Given the description of an element on the screen output the (x, y) to click on. 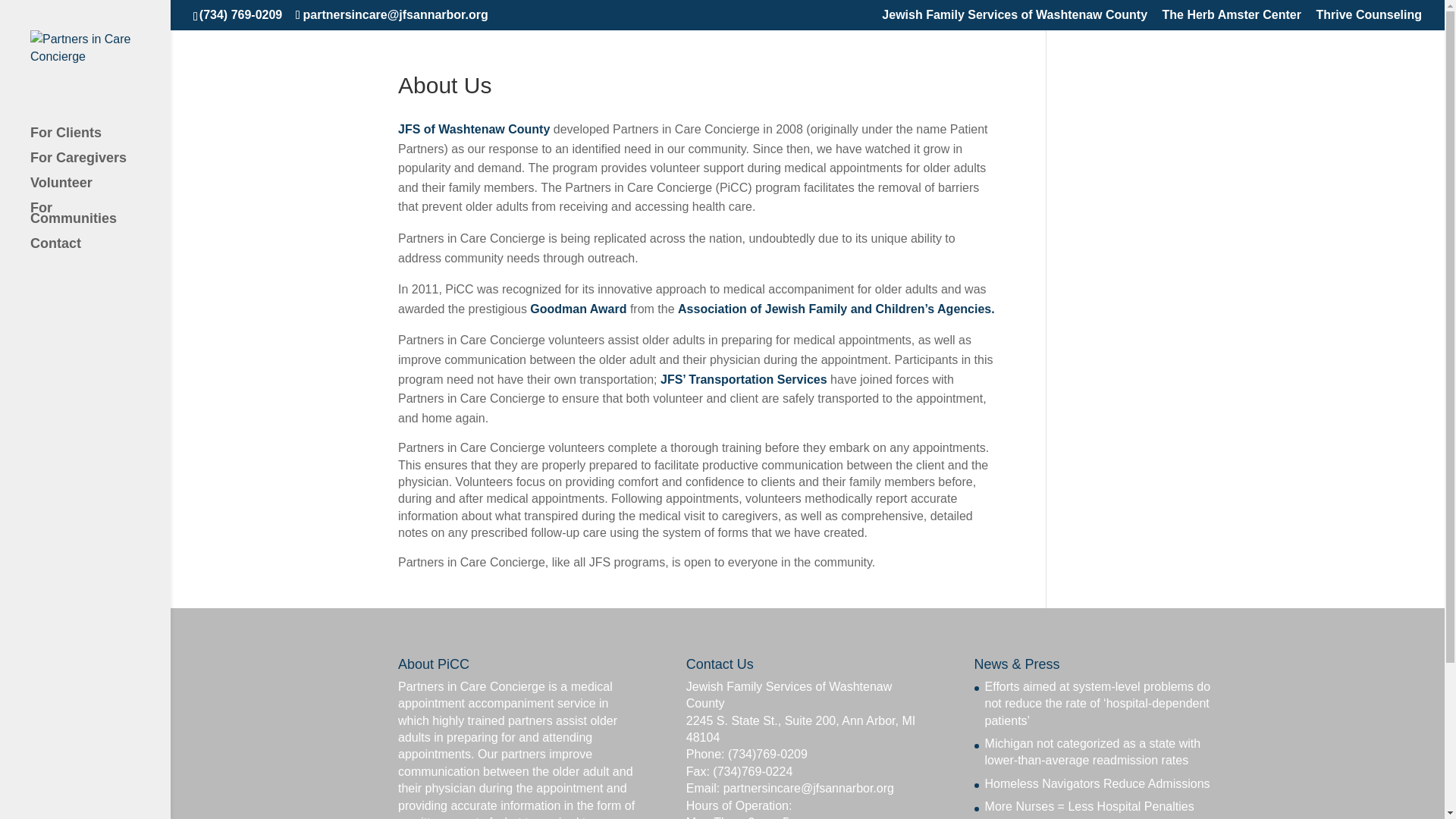
For Clients (100, 139)
The Herb Amster Center (1231, 19)
Transportation Services  (745, 379)
Jewish Family Services of Washtenaw County (1014, 19)
Goodman Award (577, 308)
Contact (100, 250)
For Caregivers (100, 164)
JFS of Washtenaw County (473, 128)
Homeless Navigators Reduce Admissions (1097, 783)
For Communities (100, 220)
Volunteer (100, 189)
Thrive Counseling (1369, 19)
